Given the description of an element on the screen output the (x, y) to click on. 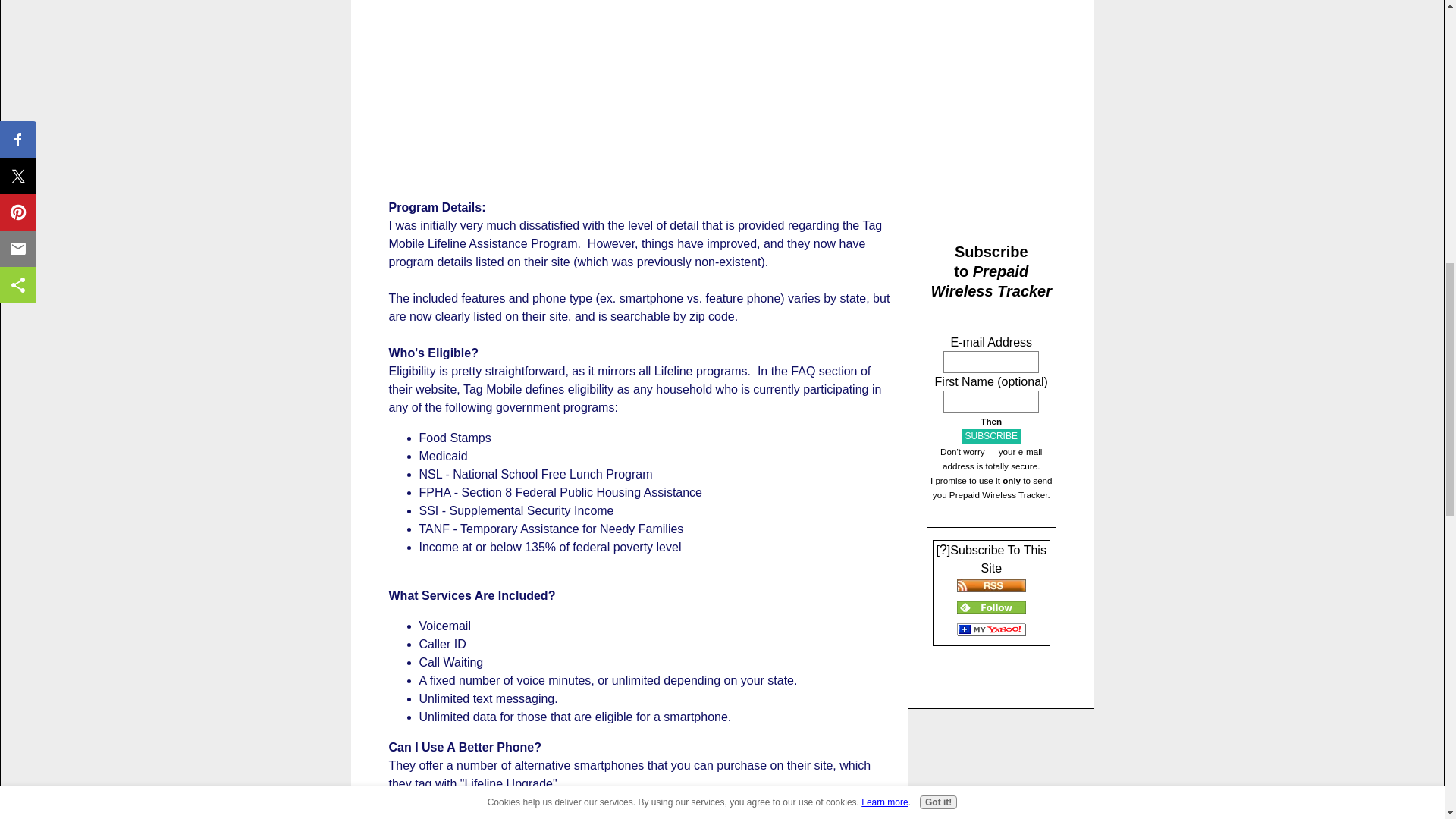
Advertisement (638, 90)
Subscribe (991, 436)
